Given the description of an element on the screen output the (x, y) to click on. 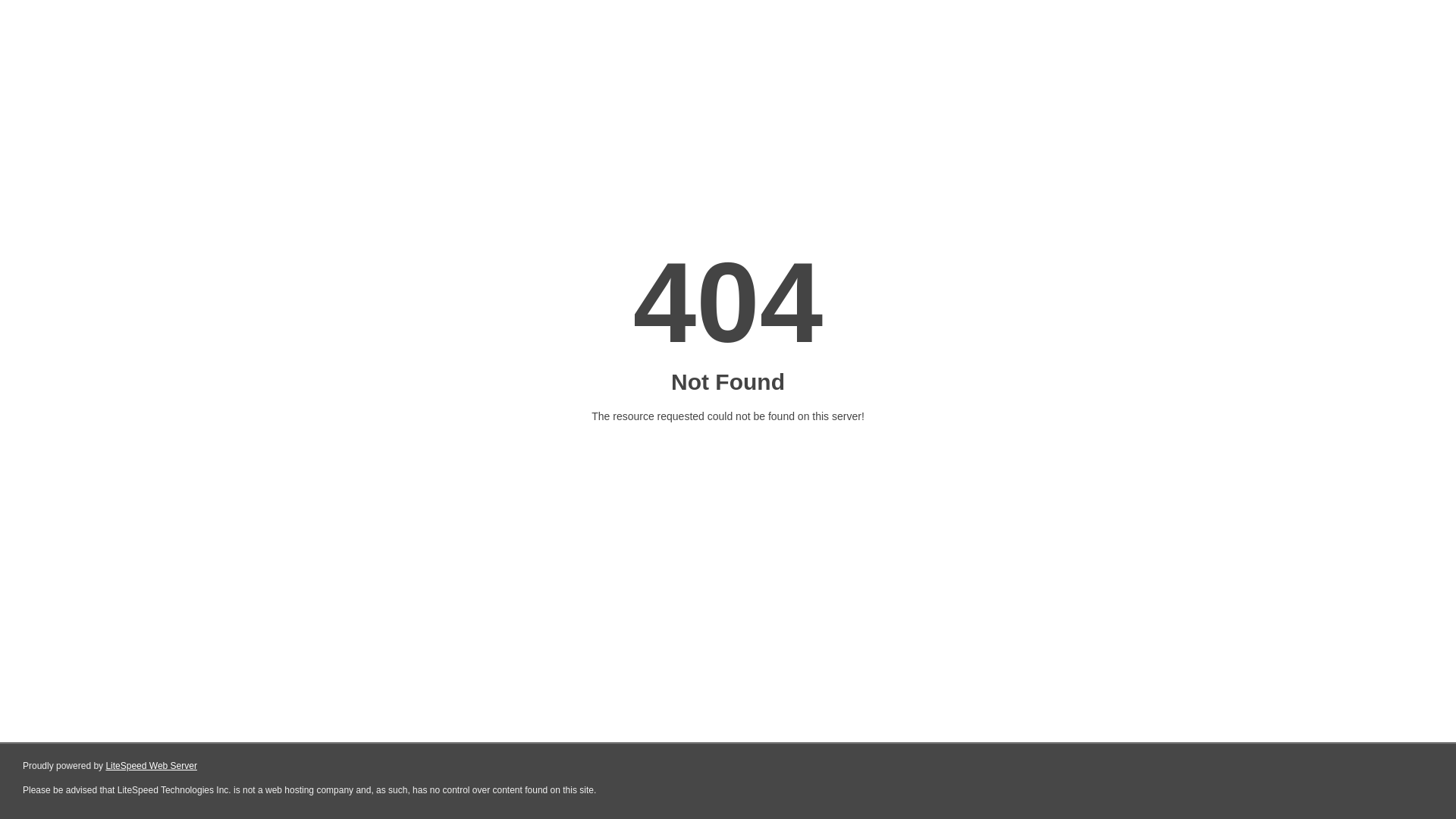
LiteSpeed Web Server Element type: text (151, 765)
